Given the description of an element on the screen output the (x, y) to click on. 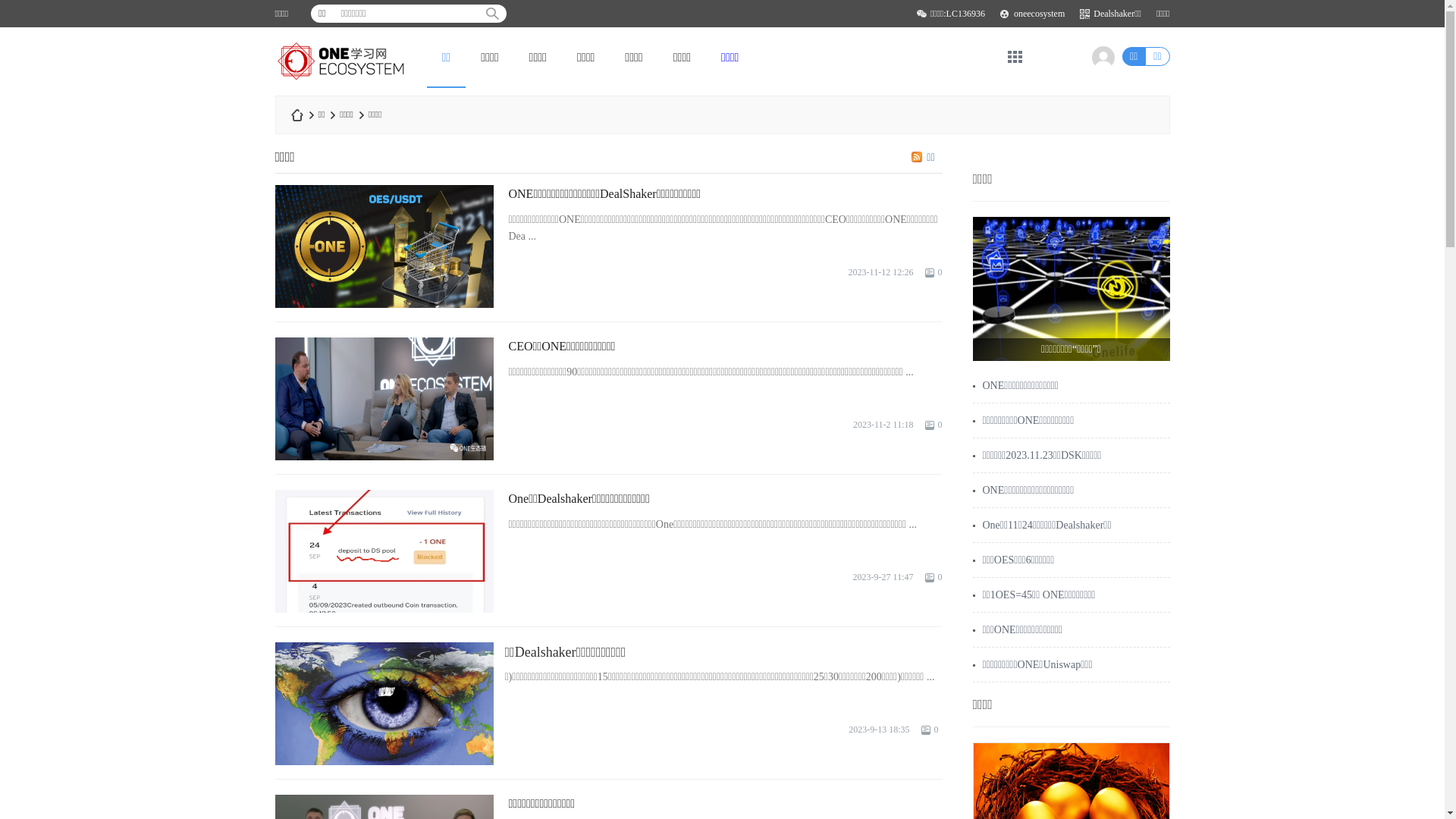
true Element type: text (491, 13)
oneecosystem Element type: text (1038, 13)
